Given the description of an element on the screen output the (x, y) to click on. 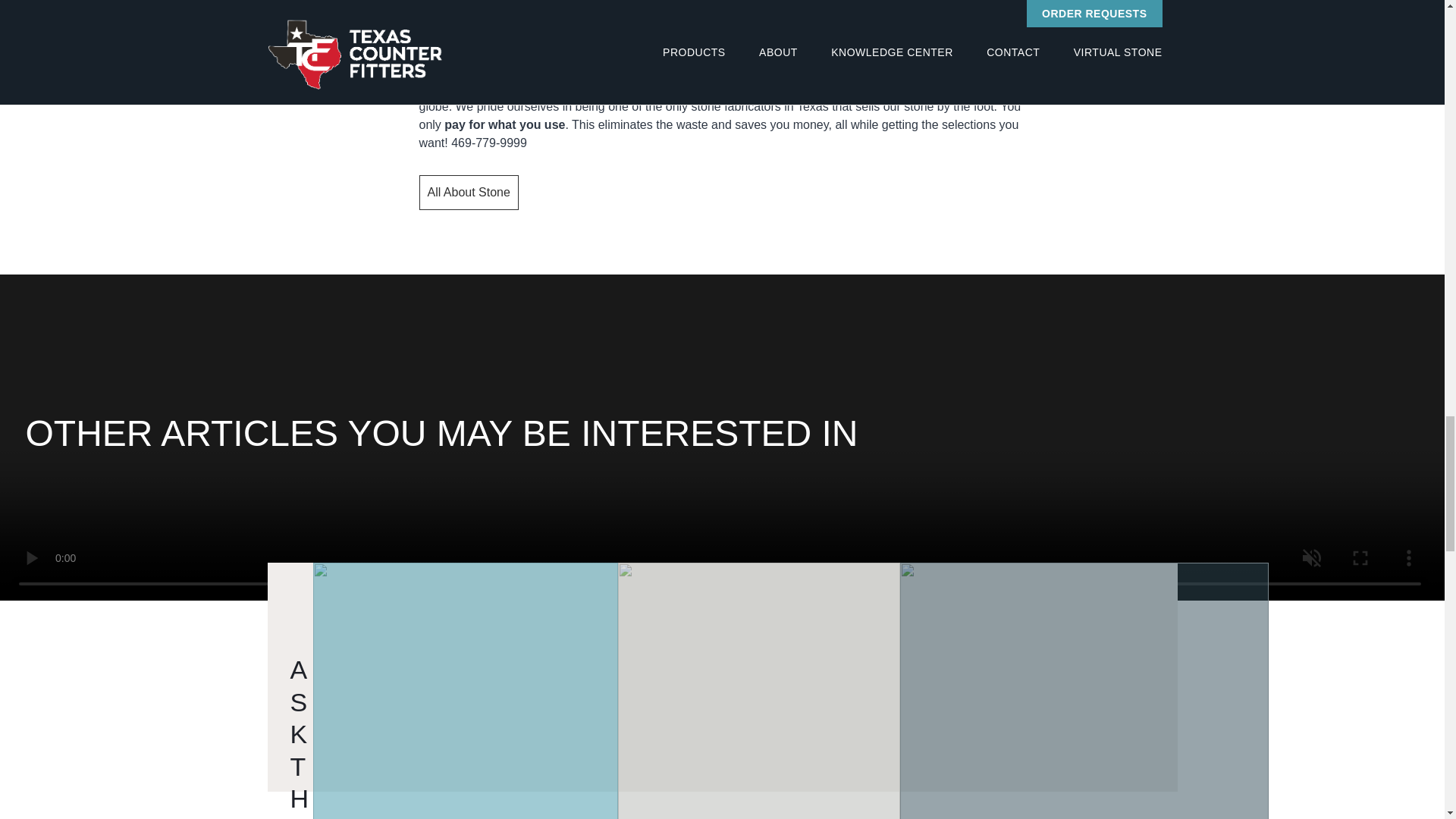
All About Stone (468, 192)
ARTIST JUSTIN BATEMAN CREATES PORTRAITS OUT OF PEBBLES (758, 690)
ROCKTOBERFEST 2024 (1083, 690)
